Given the description of an element on the screen output the (x, y) to click on. 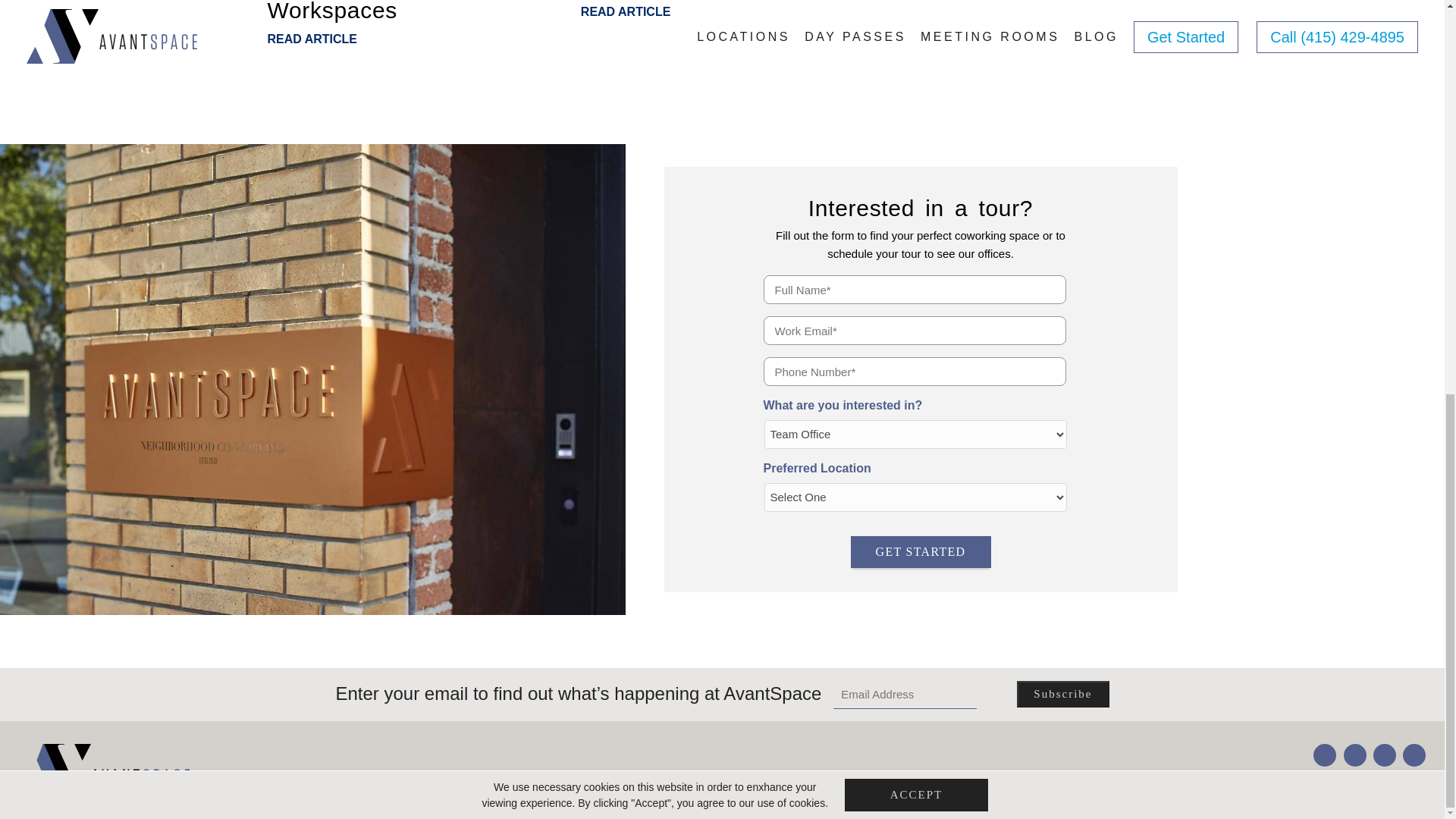
Subscribe (1062, 693)
READ ARTICLE (718, 11)
GET STARTED (920, 552)
Subscribe (1062, 693)
Privacy Policy (1281, 782)
GET STARTED (920, 552)
READ ARTICLE (404, 39)
835 5th Avenue, San Rafael (1166, 782)
